Given the description of an element on the screen output the (x, y) to click on. 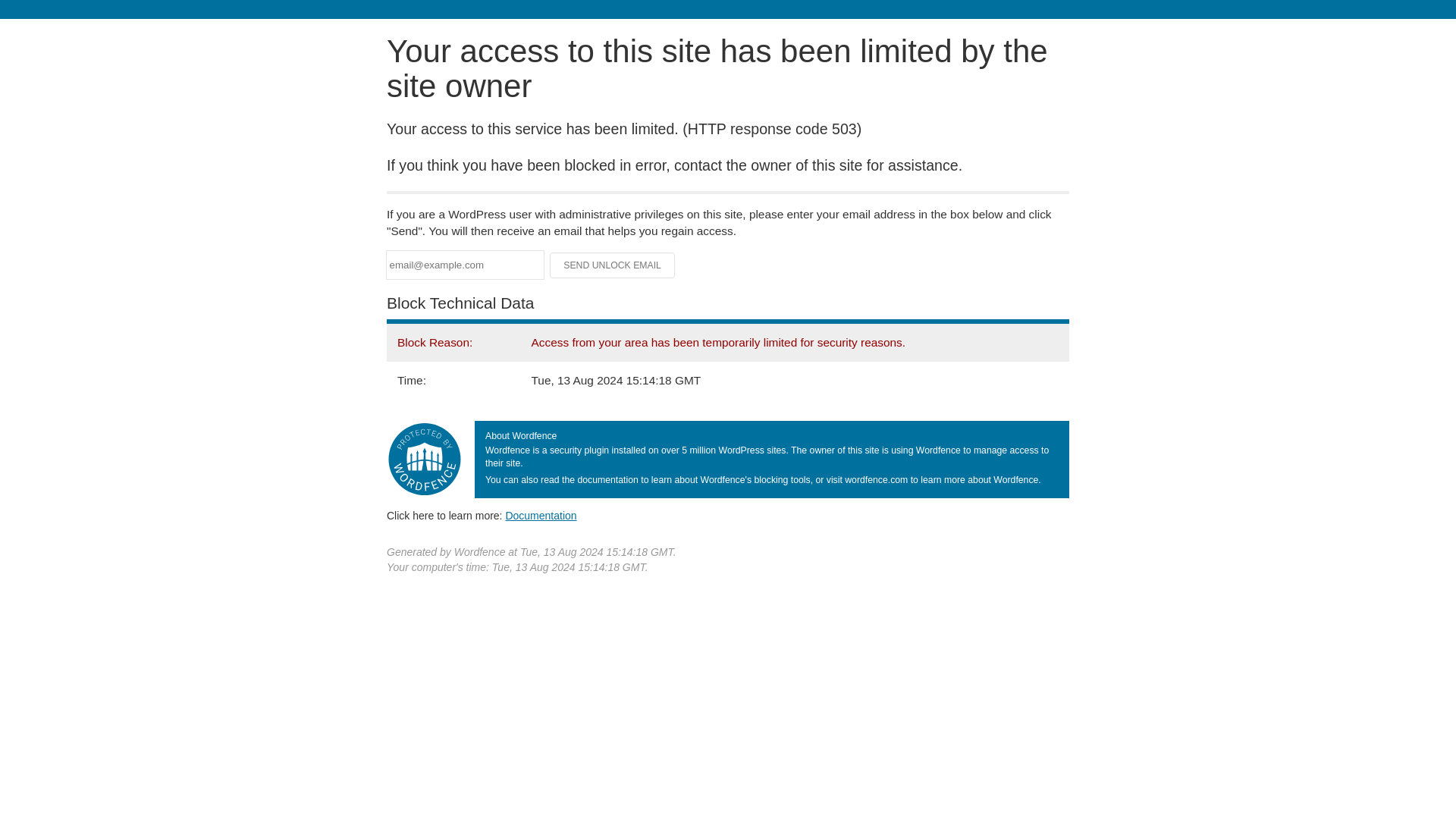
Documentation (540, 515)
Send Unlock Email (612, 265)
Send Unlock Email (612, 265)
